Given the description of an element on the screen output the (x, y) to click on. 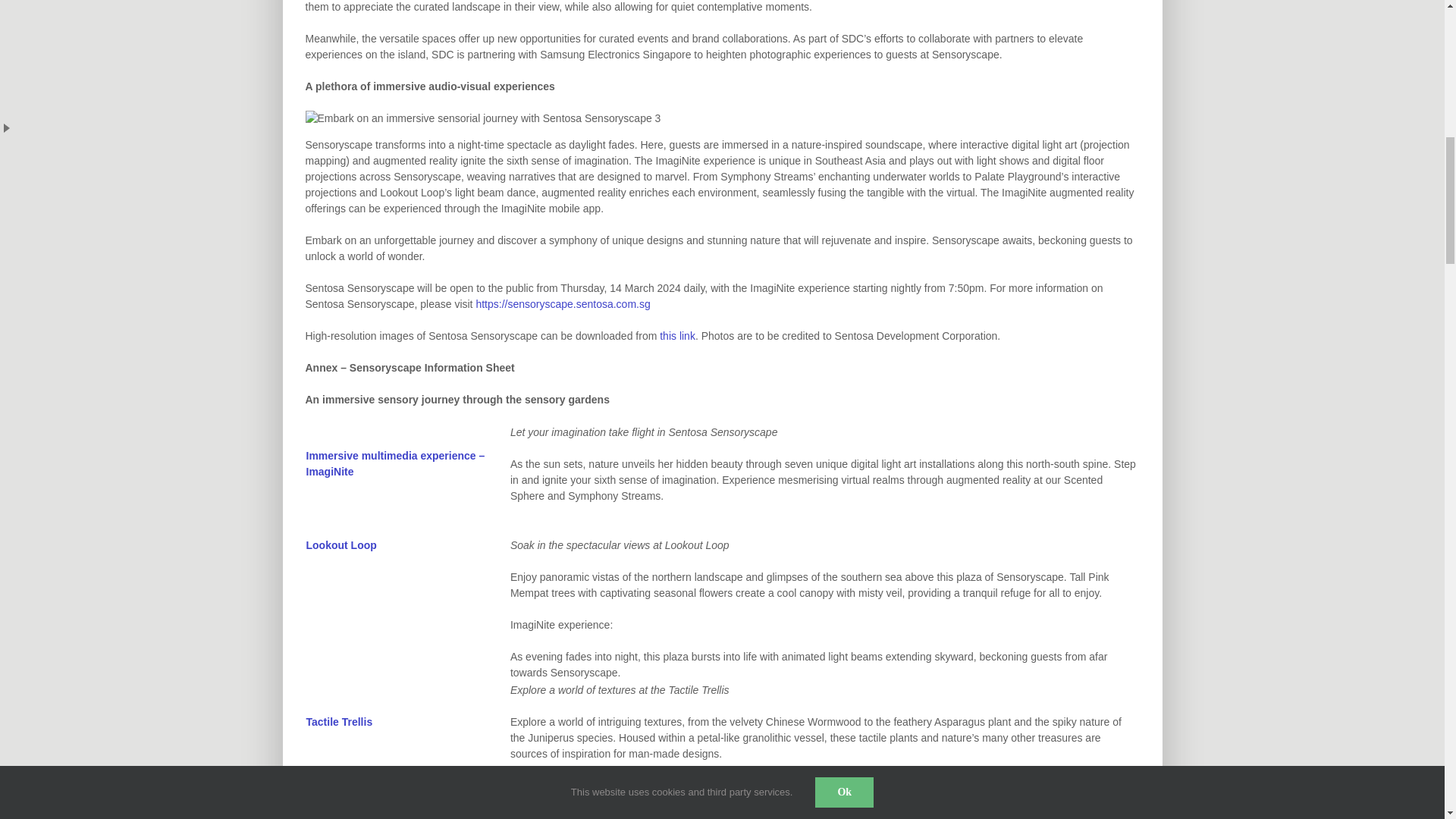
Tactile Trellis (338, 721)
this link (677, 336)
Lookout Loop (341, 544)
